Given the description of an element on the screen output the (x, y) to click on. 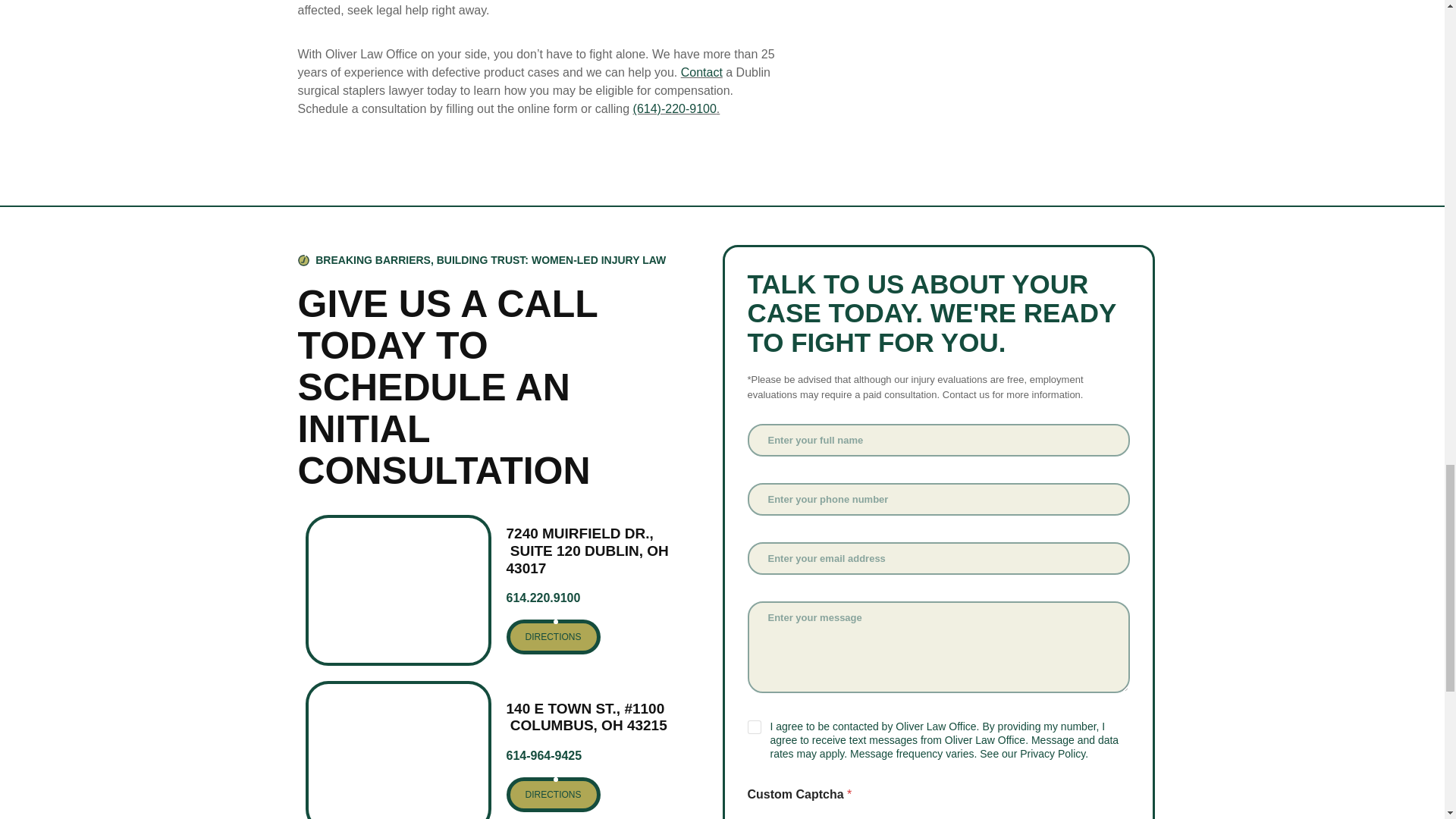
Rectangle 33 - Oliver Law Office (397, 749)
Rectangle - Oliver Law Office (397, 590)
